Given the description of an element on the screen output the (x, y) to click on. 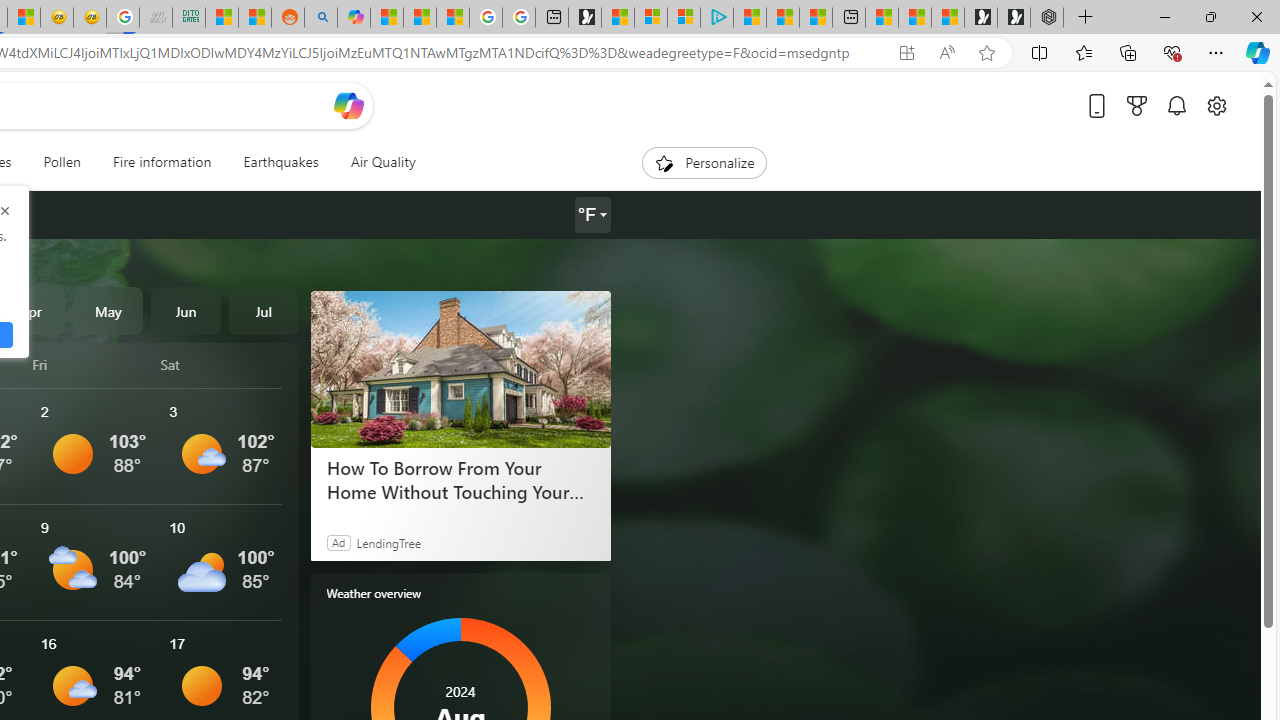
Jun (186, 310)
Pollen (61, 162)
May (107, 310)
Jul (263, 310)
Air Quality (375, 162)
